Given the description of an element on the screen output the (x, y) to click on. 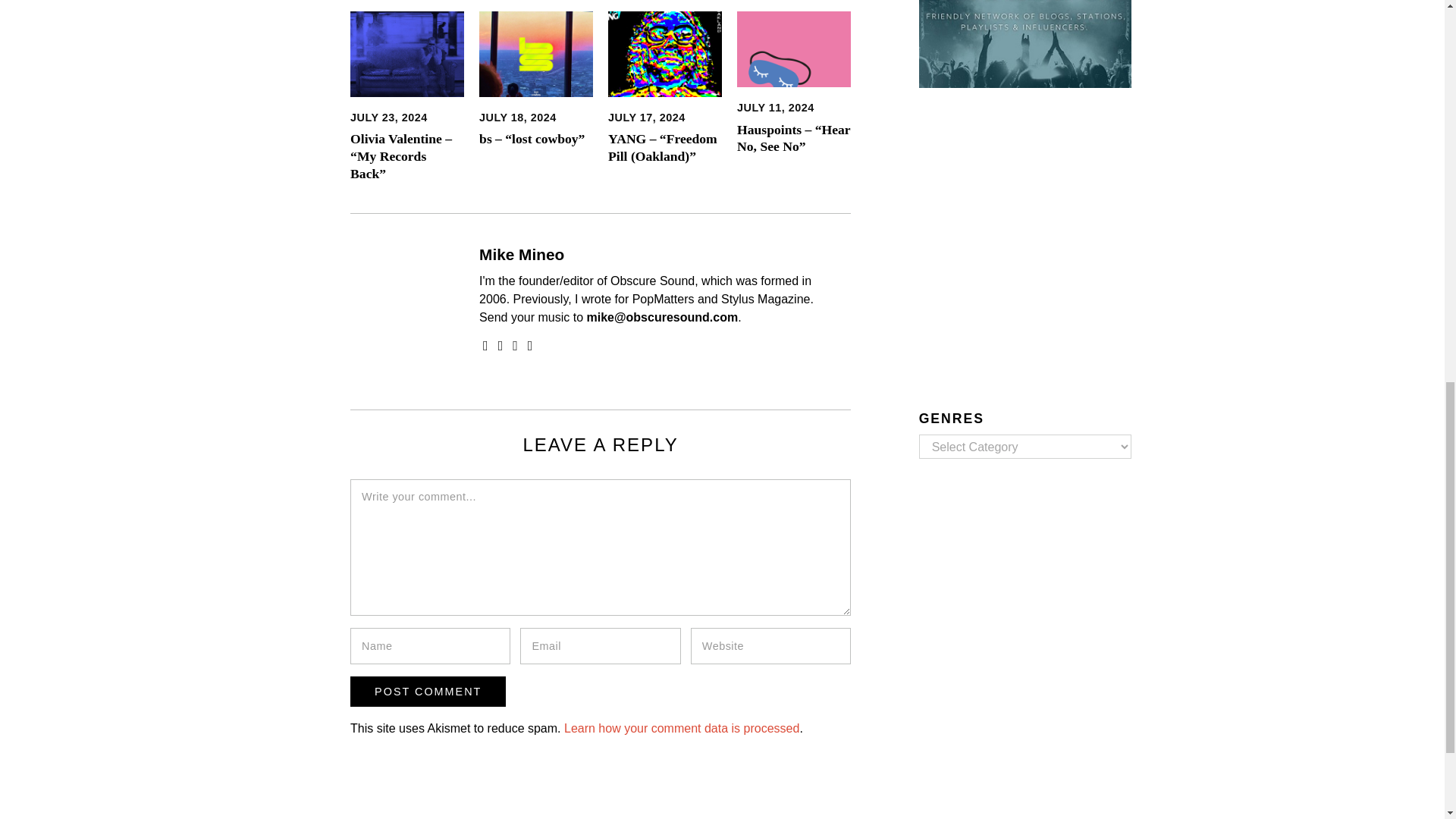
Mike Mineo (521, 253)
Post Comment (427, 691)
